Given the description of an element on the screen output the (x, y) to click on. 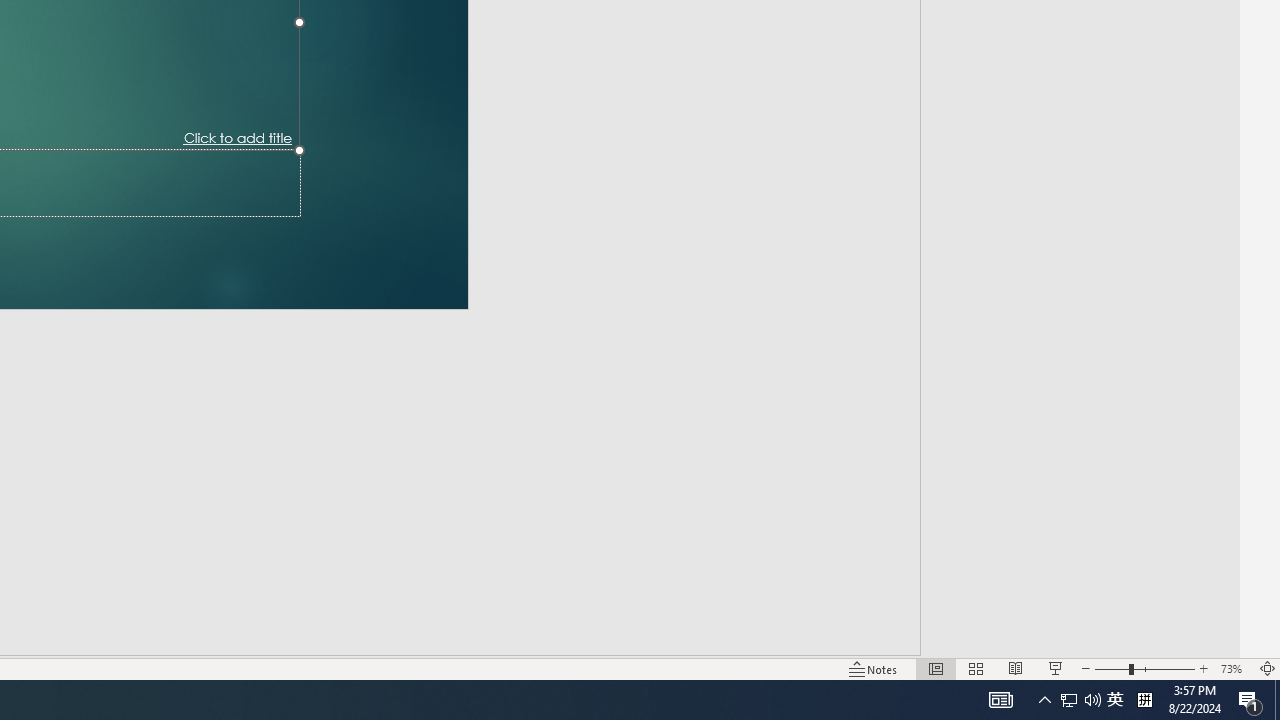
Focus  (786, 640)
Zoom 75% (1249, 640)
Zoom Out (1067, 640)
Class: Image (965, 687)
Notion (333, 687)
